Given the description of an element on the screen output the (x, y) to click on. 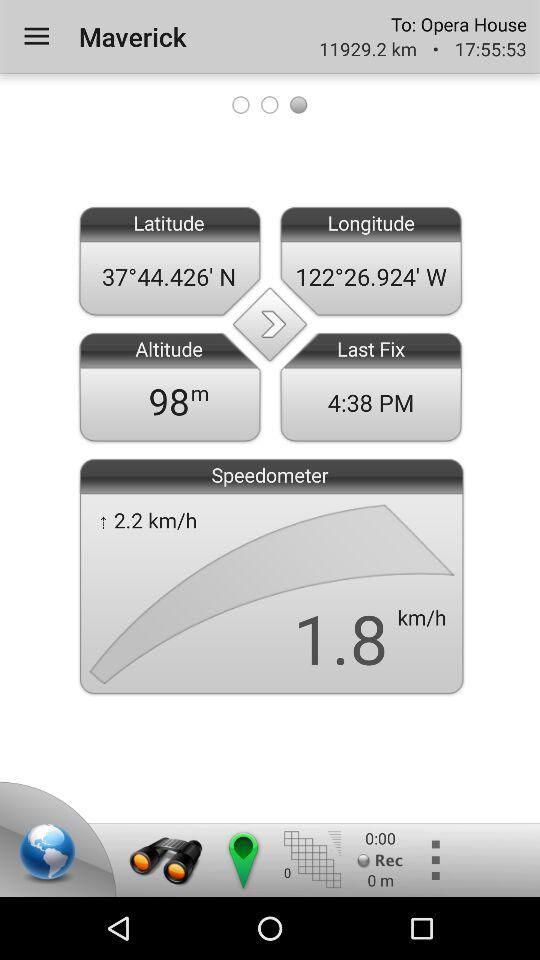
zoom in (166, 860)
